Given the description of an element on the screen output the (x, y) to click on. 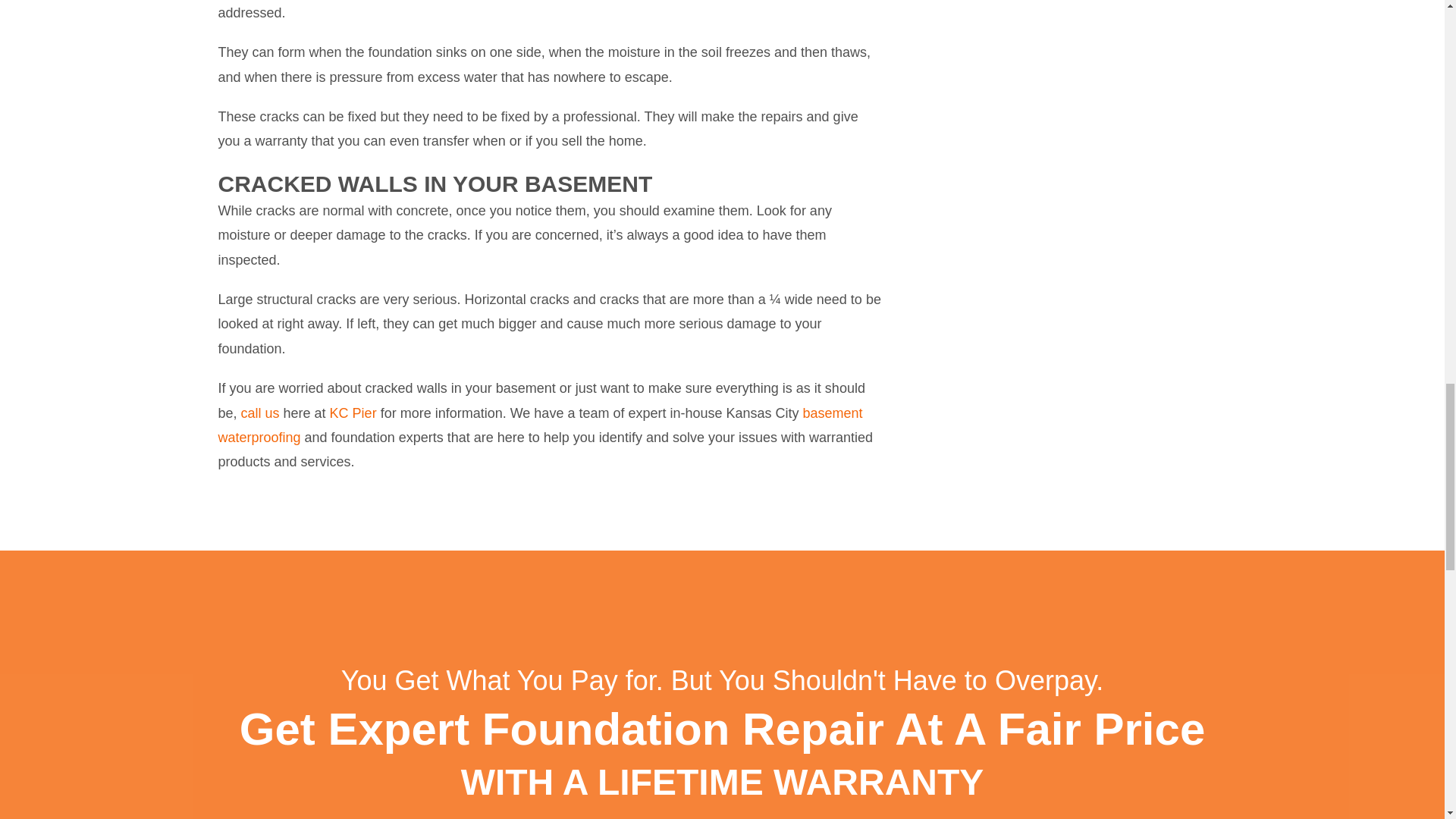
KC Pier (353, 412)
call us (260, 412)
basement waterproofing (540, 425)
